Given the description of an element on the screen output the (x, y) to click on. 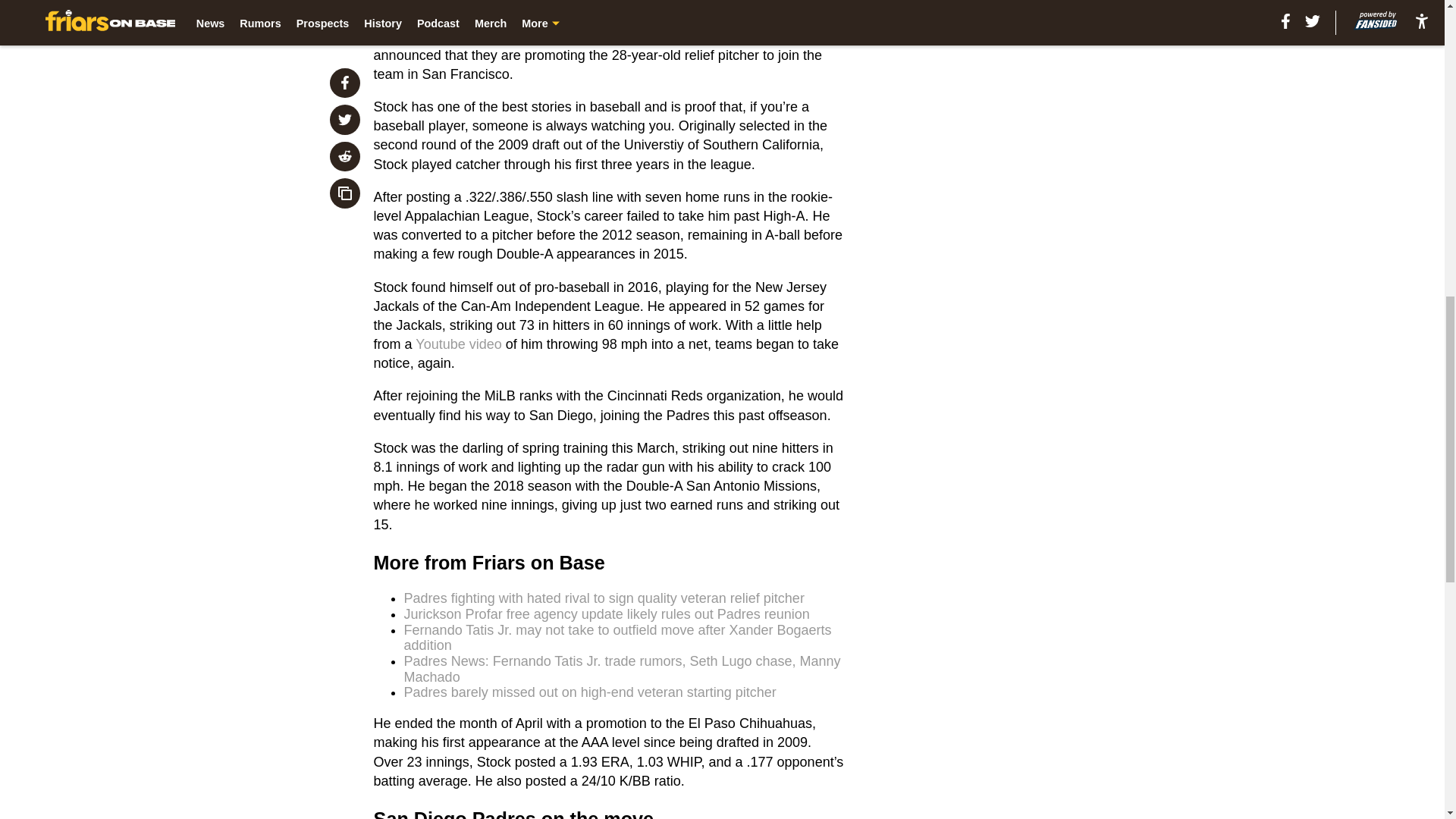
Youtube video (457, 344)
Robert Stock (413, 35)
